Given the description of an element on the screen output the (x, y) to click on. 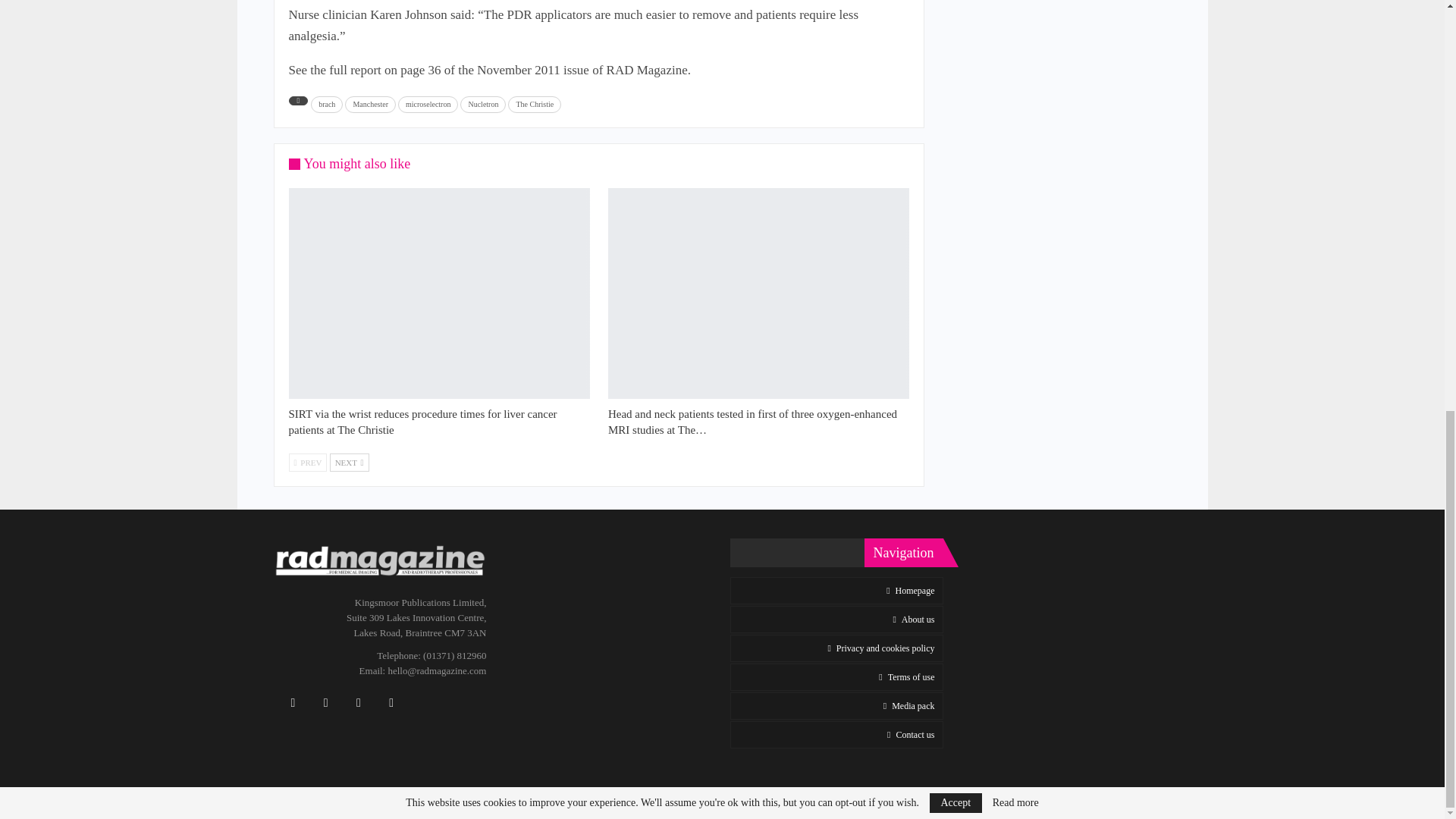
Twitter (325, 701)
Default Label (358, 701)
Next (349, 462)
Previous (307, 462)
Facebook (292, 701)
